Given the description of an element on the screen output the (x, y) to click on. 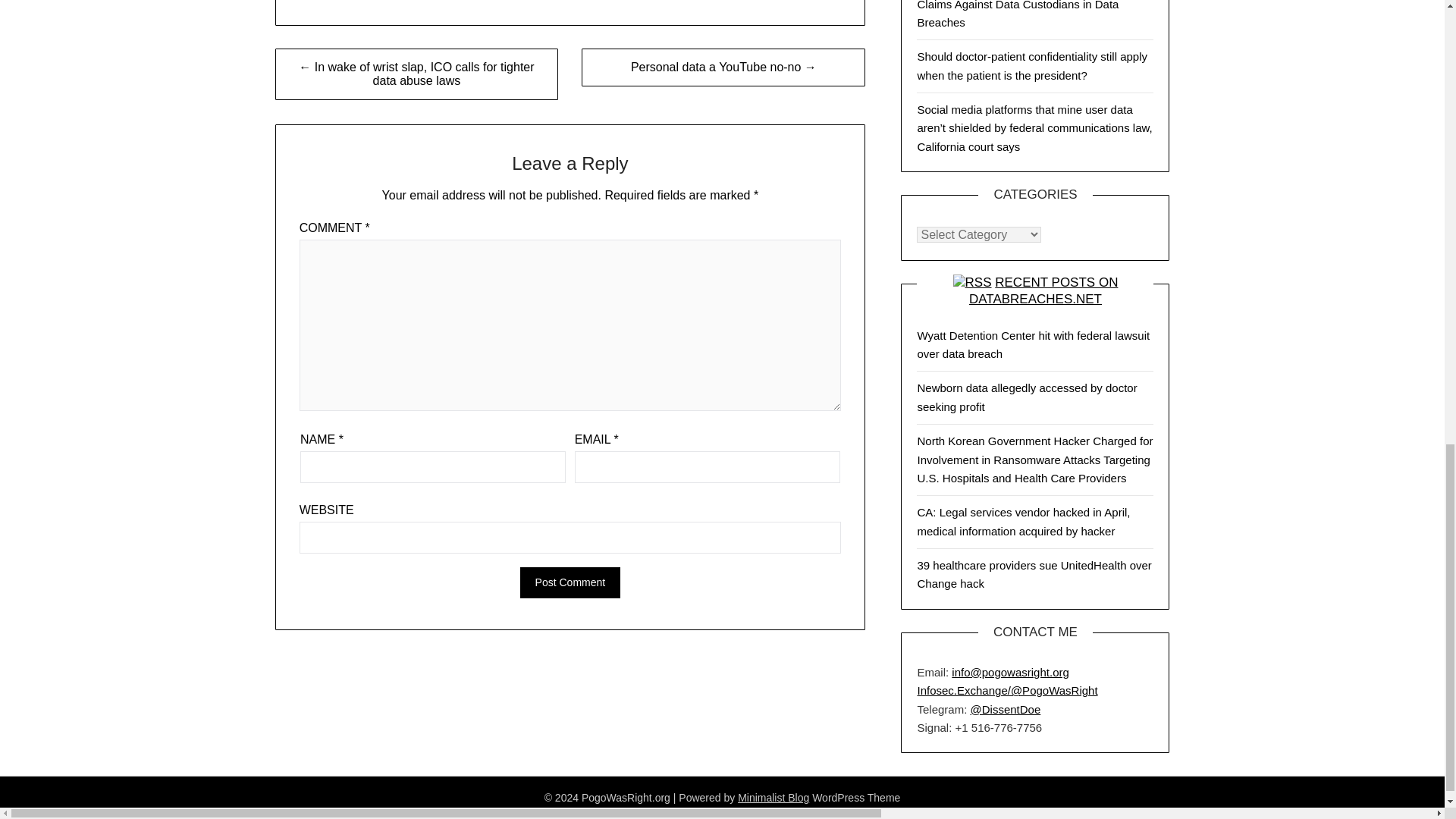
Post Comment (570, 582)
Minimalist Blog (773, 797)
Post Comment (570, 582)
39 healthcare providers sue UnitedHealth over Change hack (1034, 573)
RECENT POSTS ON DATABREACHES.NET (1043, 290)
Newborn data allegedly accessed by doctor seeking profit (1027, 396)
